Given the description of an element on the screen output the (x, y) to click on. 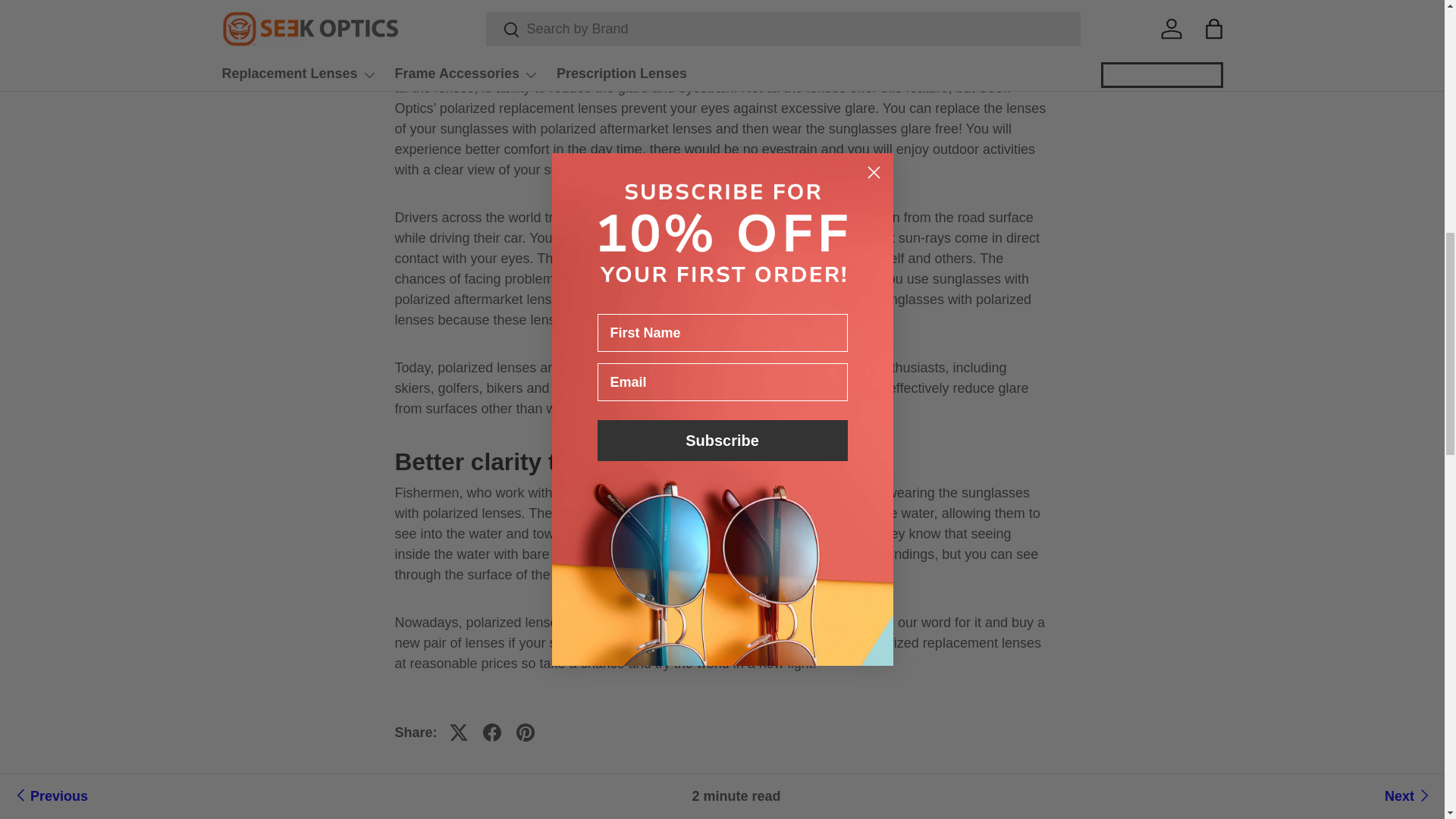
Tweet on X (459, 732)
Pin on Pinterest (524, 732)
Share on Facebook (492, 732)
